Given the description of an element on the screen output the (x, y) to click on. 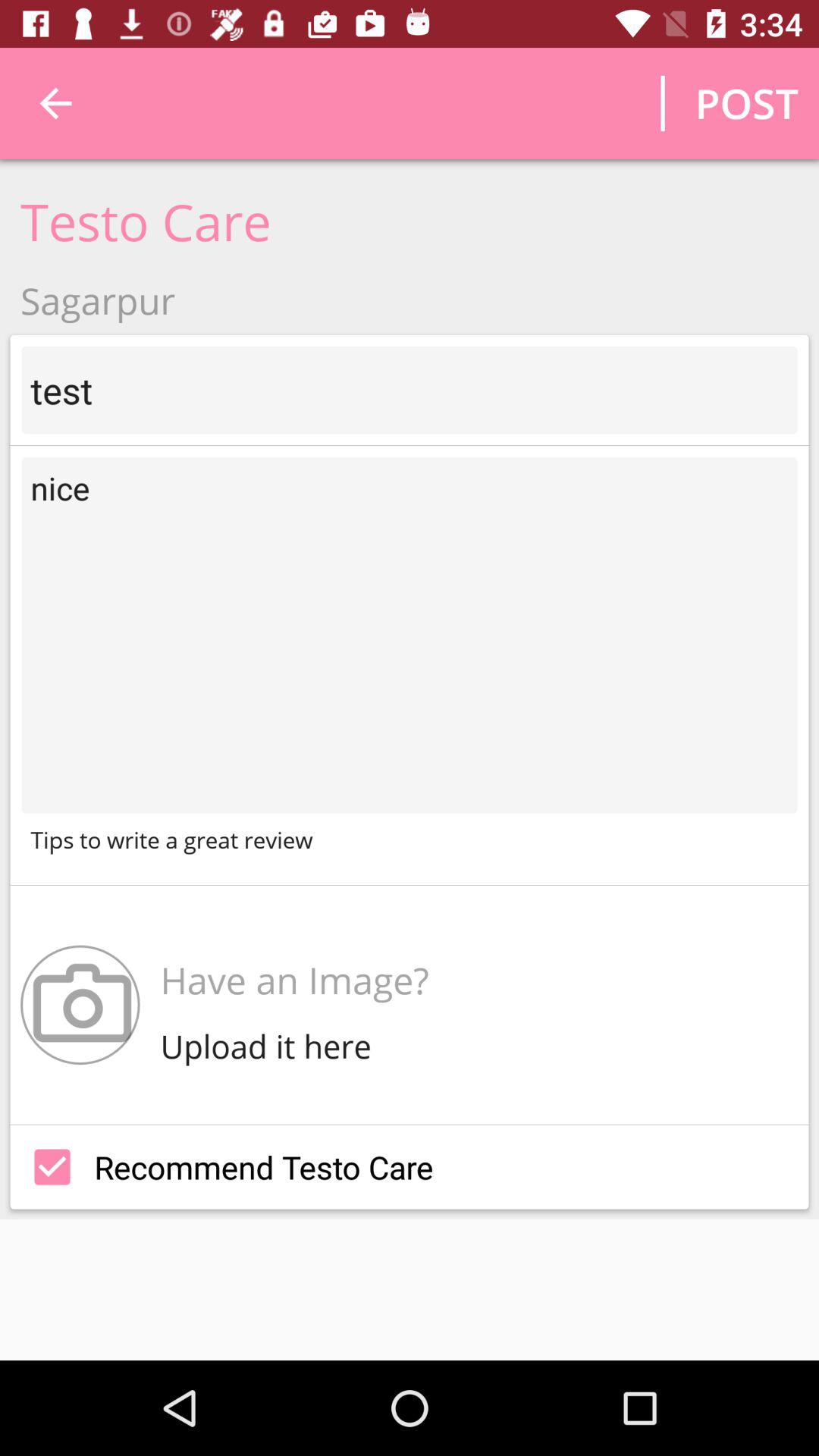
flip until tips to write item (409, 839)
